Given the description of an element on the screen output the (x, y) to click on. 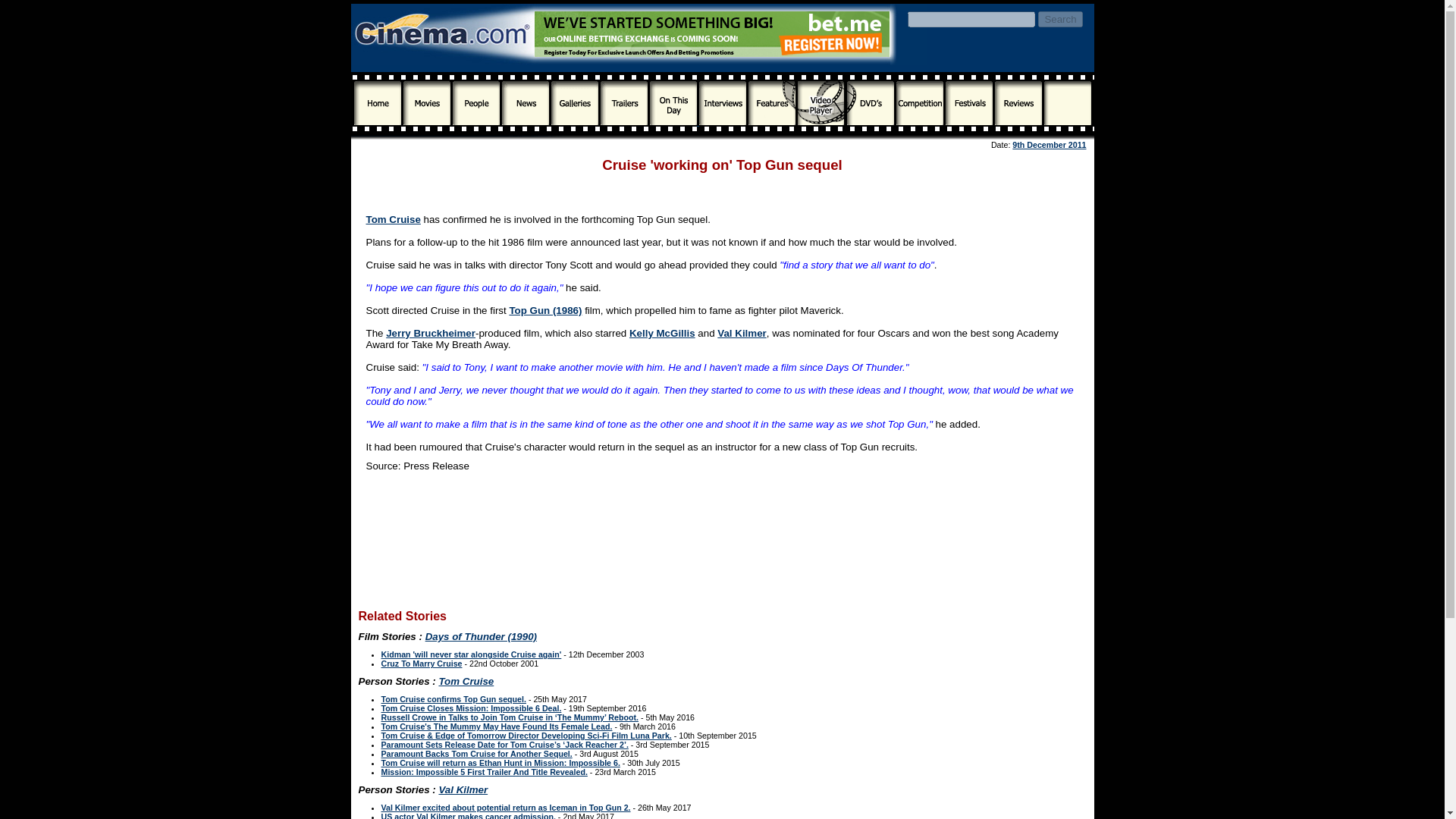
Tom Cruise's The Mummy May Have Found Its Female Lead. (495, 726)
Kidman 'will never star alongside Cruise again' (470, 654)
Tom Cruise Closes Mission: Impossible 6 Deal. (470, 707)
Tom Cruise (392, 219)
Mission: Impossible 5 First Trailer And Title Revealed. (483, 771)
Tom Cruise confirms Top Gun sequel. (452, 698)
9th December 2011 (1048, 144)
Cruz To Marry Cruise (420, 663)
Tom Cruise (465, 681)
Val Kilmer (741, 333)
Val Kilmer (462, 789)
Jerry Bruckheimer (430, 333)
Advertisement (721, 186)
